Given the description of an element on the screen output the (x, y) to click on. 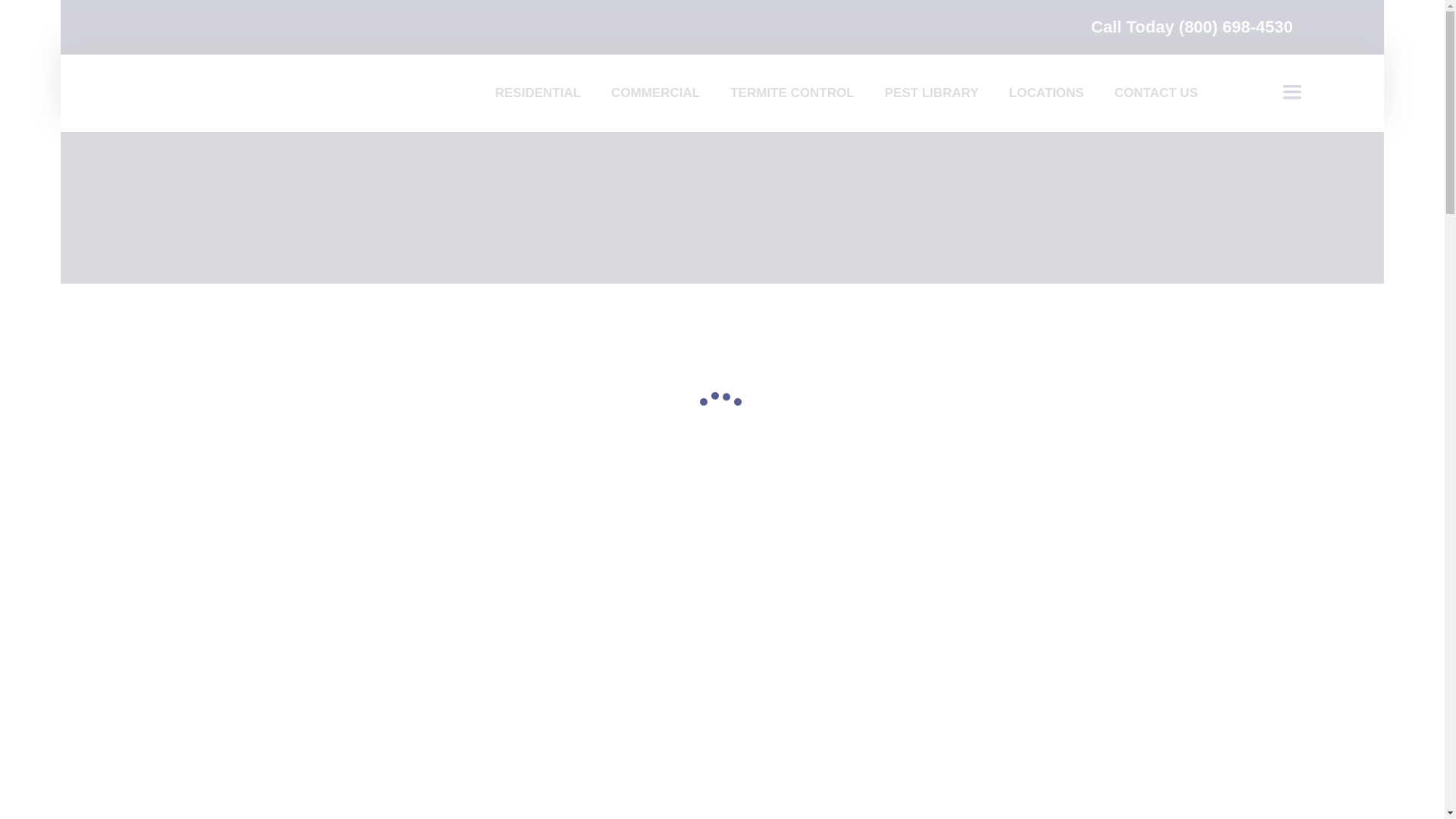
RESIDENTIAL (537, 93)
PEST LIBRARY (931, 93)
CONTACT US (1155, 93)
COMMERCIAL (654, 93)
LOCATIONS (1046, 93)
TERMITE CONTROL (791, 93)
